Given the description of an element on the screen output the (x, y) to click on. 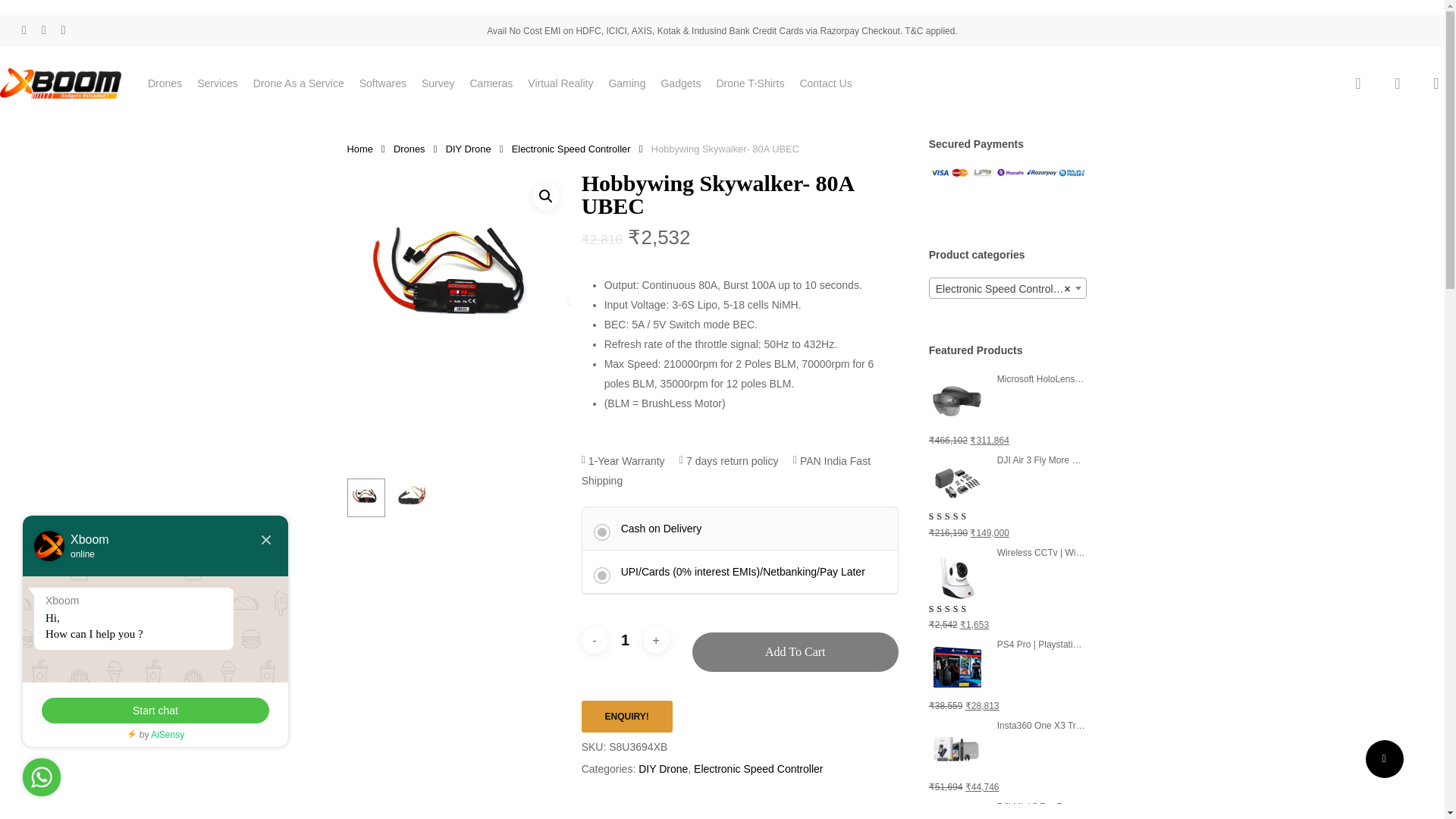
Hobbywing Skywalker- 80A UBEC (458, 283)
Electronic Speed Controller (1008, 288)
- (594, 640)
Hobbywing Skywalker- 80A UBEC (626, 716)
Drones (165, 83)
1 (625, 640)
